Given the description of an element on the screen output the (x, y) to click on. 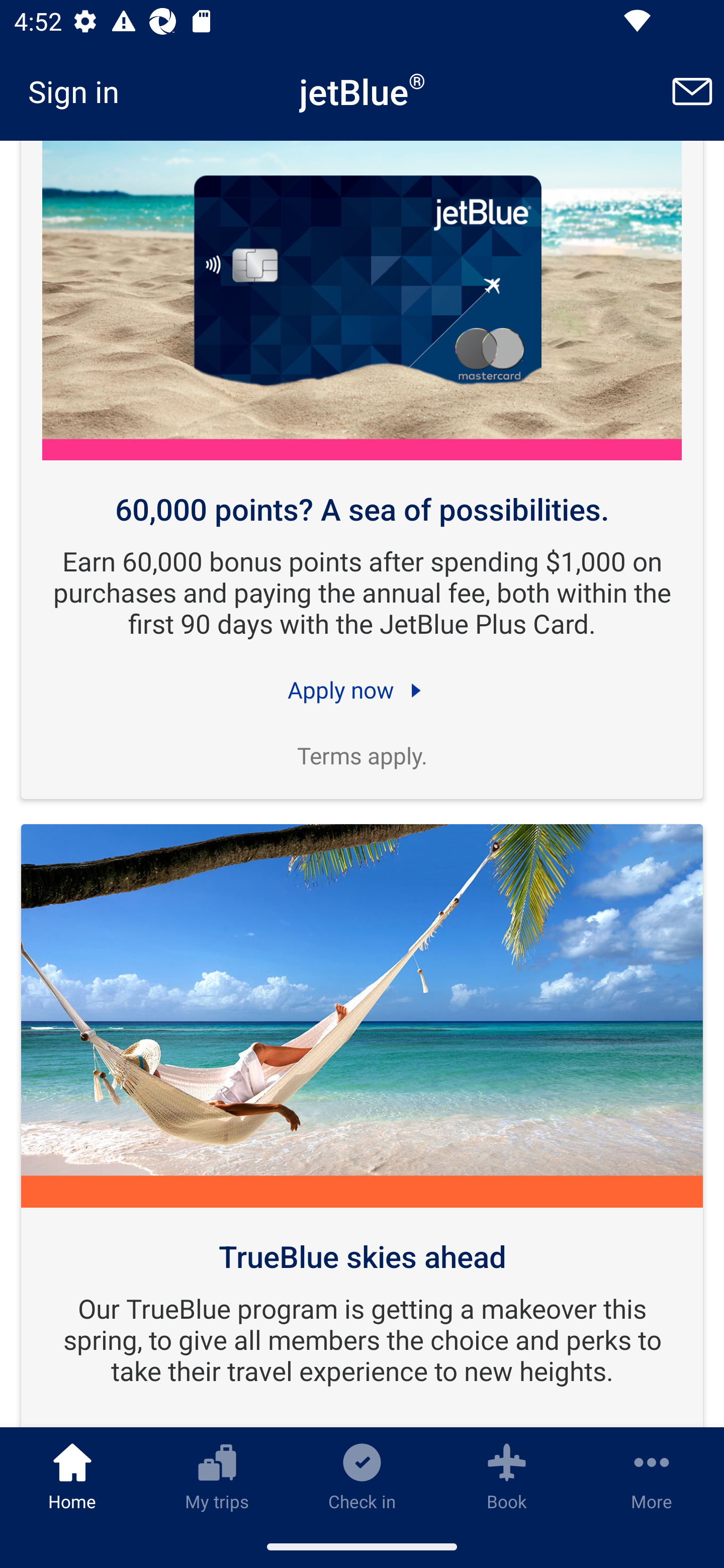
Sign in (80, 91)
Apply now (361, 690)
My trips (216, 1475)
Check in (361, 1475)
Book (506, 1475)
More (651, 1475)
